Given the description of an element on the screen output the (x, y) to click on. 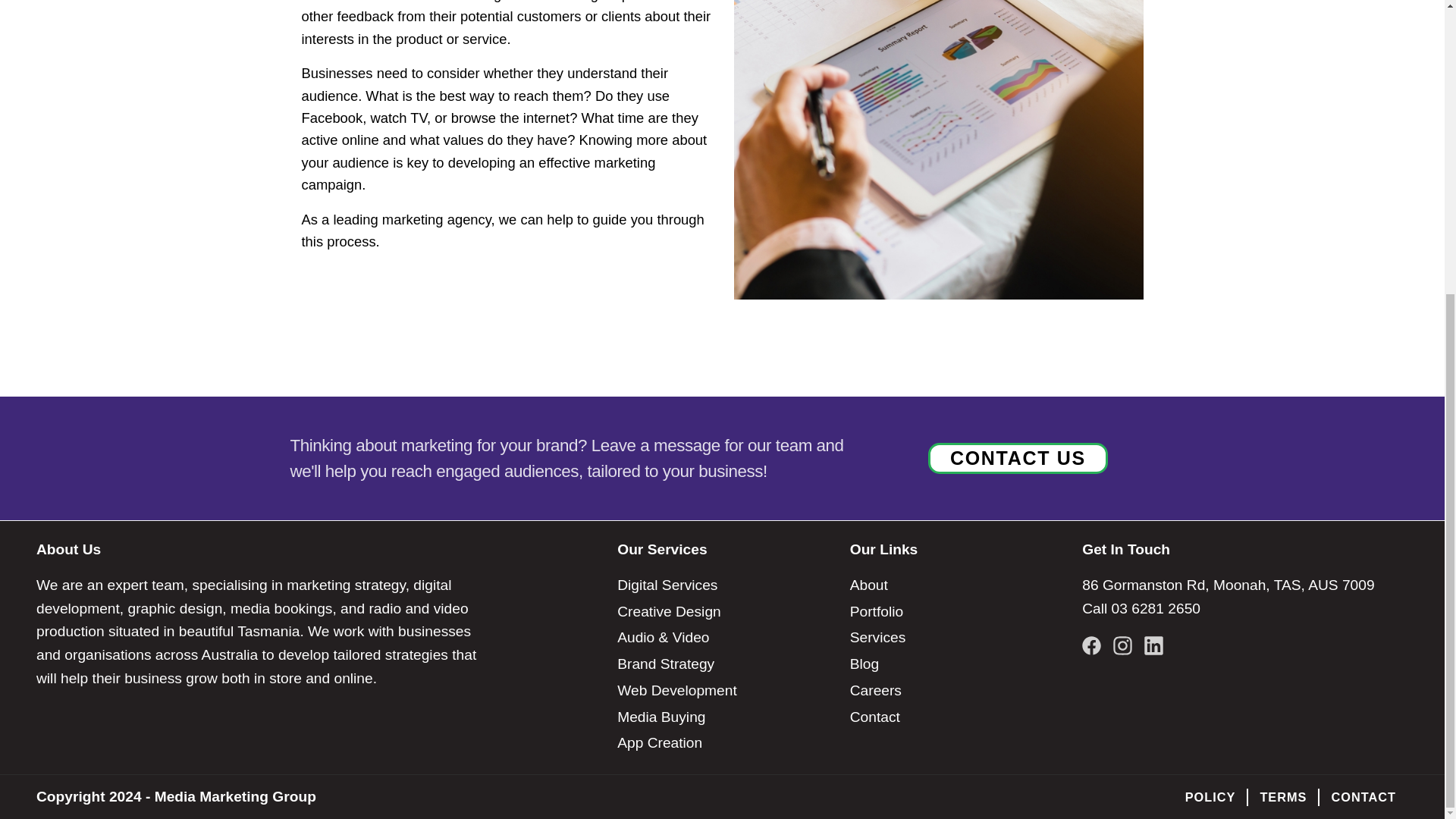
Web Development (722, 691)
Services (954, 637)
About (954, 586)
CONTACT US (1018, 458)
Portfolio (954, 611)
Creative Design (722, 611)
App Creation (722, 743)
Media Buying (722, 717)
Brand Strategy (722, 664)
Digital Services (722, 586)
